Given the description of an element on the screen output the (x, y) to click on. 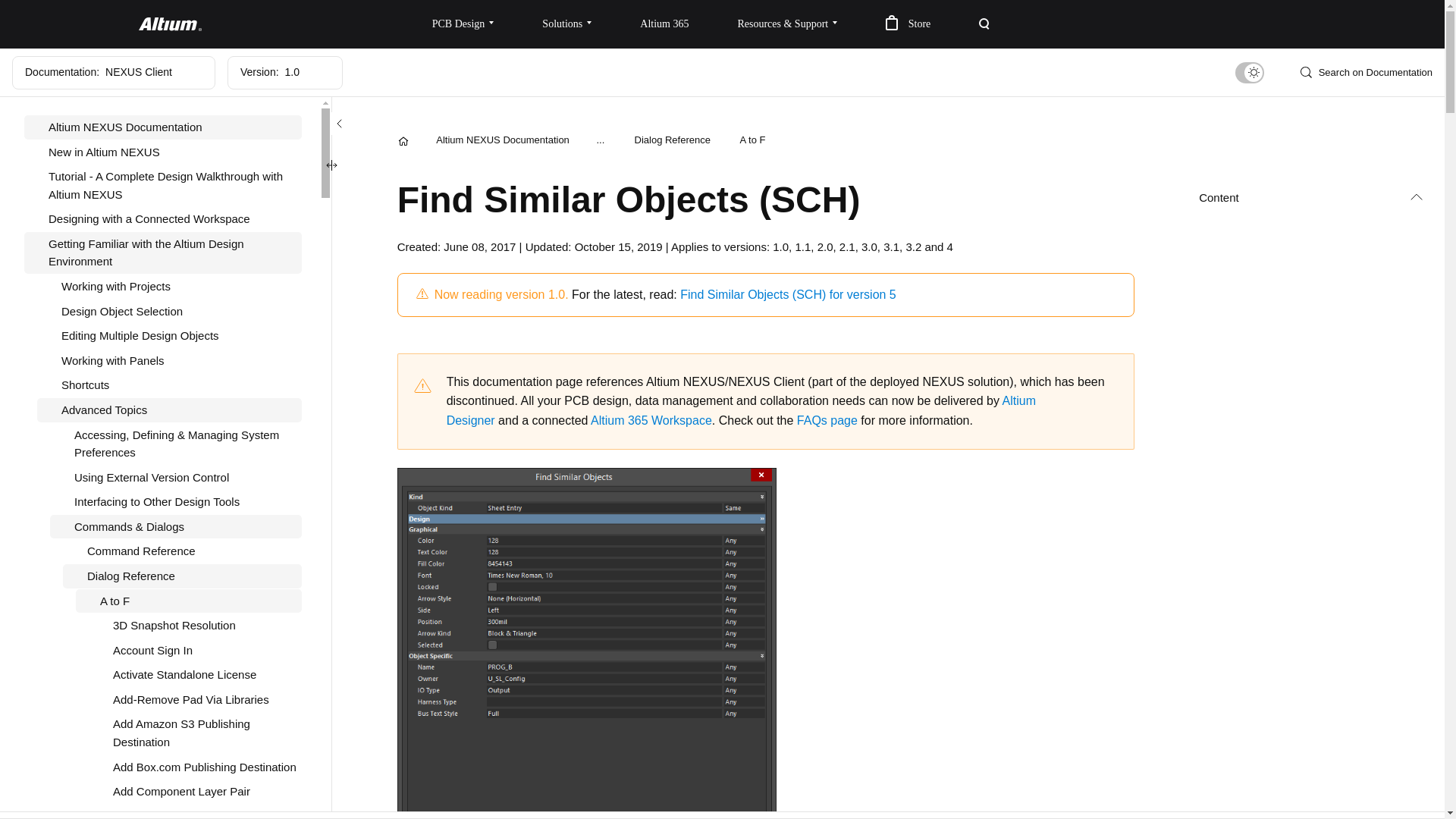
PCB Design (462, 24)
Solutions (566, 24)
Altium 365 (664, 24)
Store (908, 24)
Search Open (984, 24)
The Find Similar Objects dialog (586, 643)
